Given the description of an element on the screen output the (x, y) to click on. 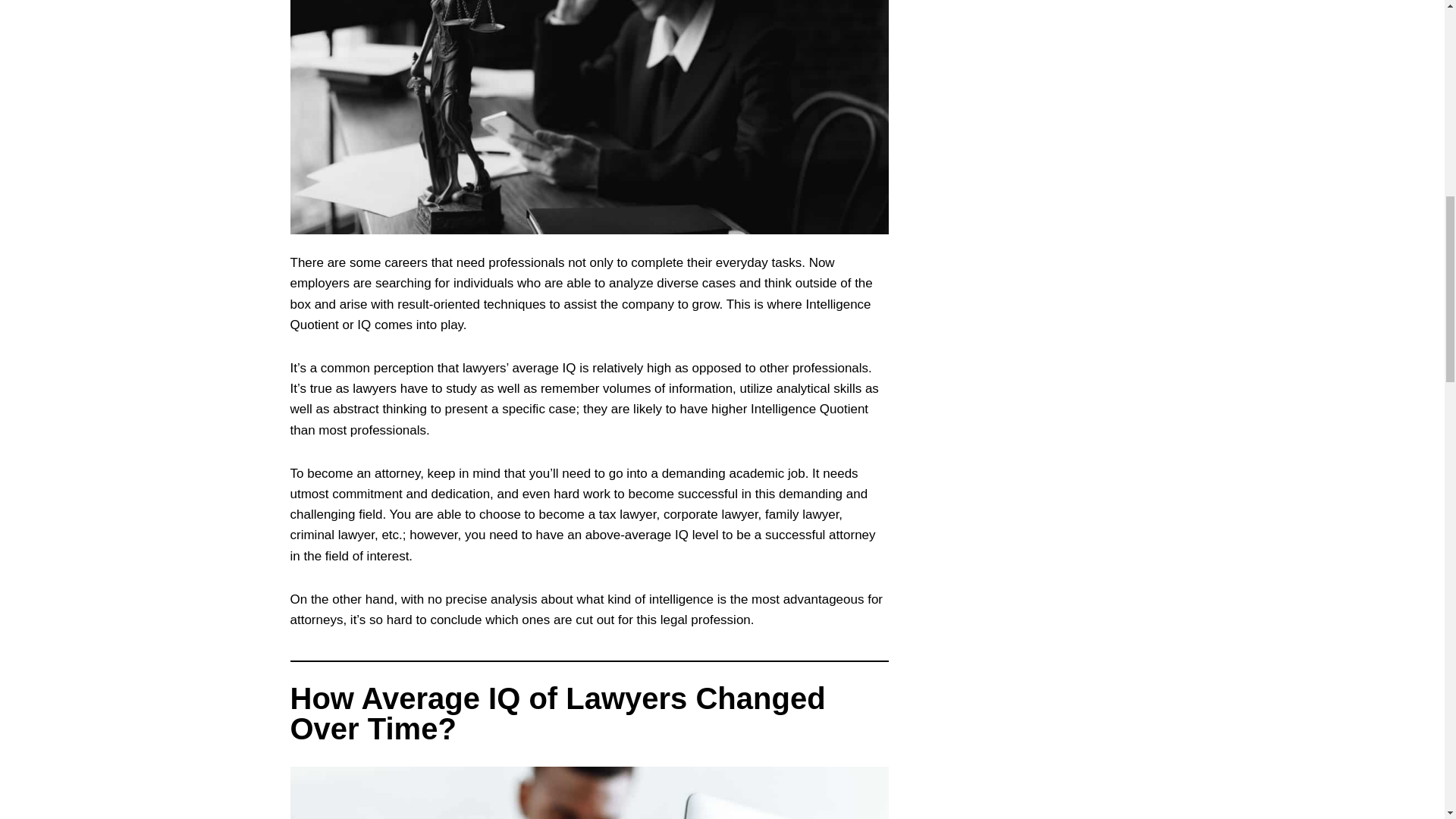
What is the Most Current Average IQ of a Lawyer? 2 (588, 792)
